Given the description of an element on the screen output the (x, y) to click on. 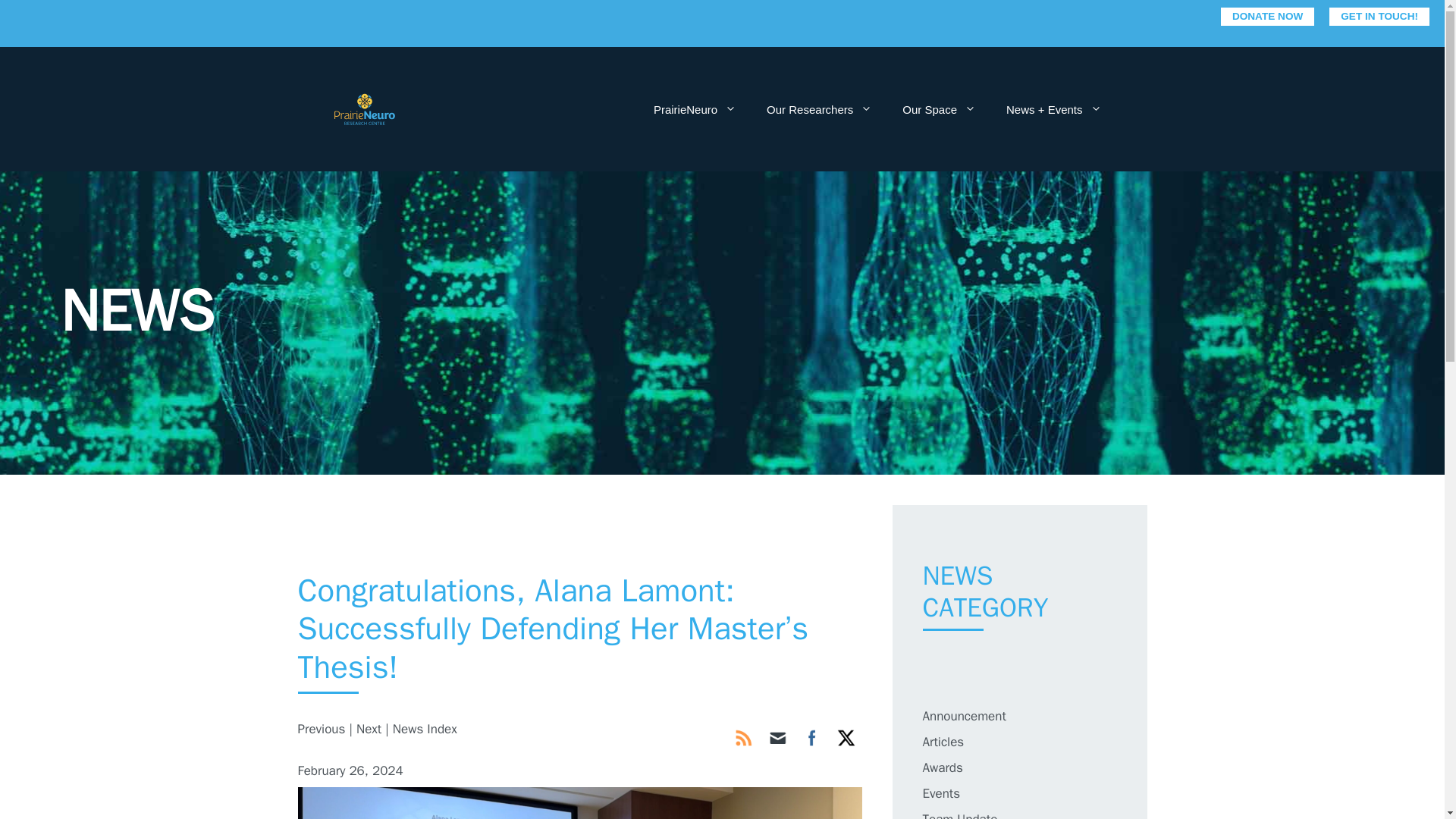
PrairieNeuro Research Centre (363, 108)
Previous (321, 729)
Announcement (963, 715)
DONATE NOW (1267, 16)
PrairieNeuro (695, 109)
First LCIF Image Contest-2023 (321, 729)
Our Researchers (818, 109)
Our Space (938, 109)
Team Update (959, 815)
Twitter (846, 737)
Events (940, 793)
Facebook (811, 737)
Articles (942, 741)
RSS (743, 737)
GET IN TOUCH! (1379, 16)
